Given the description of an element on the screen output the (x, y) to click on. 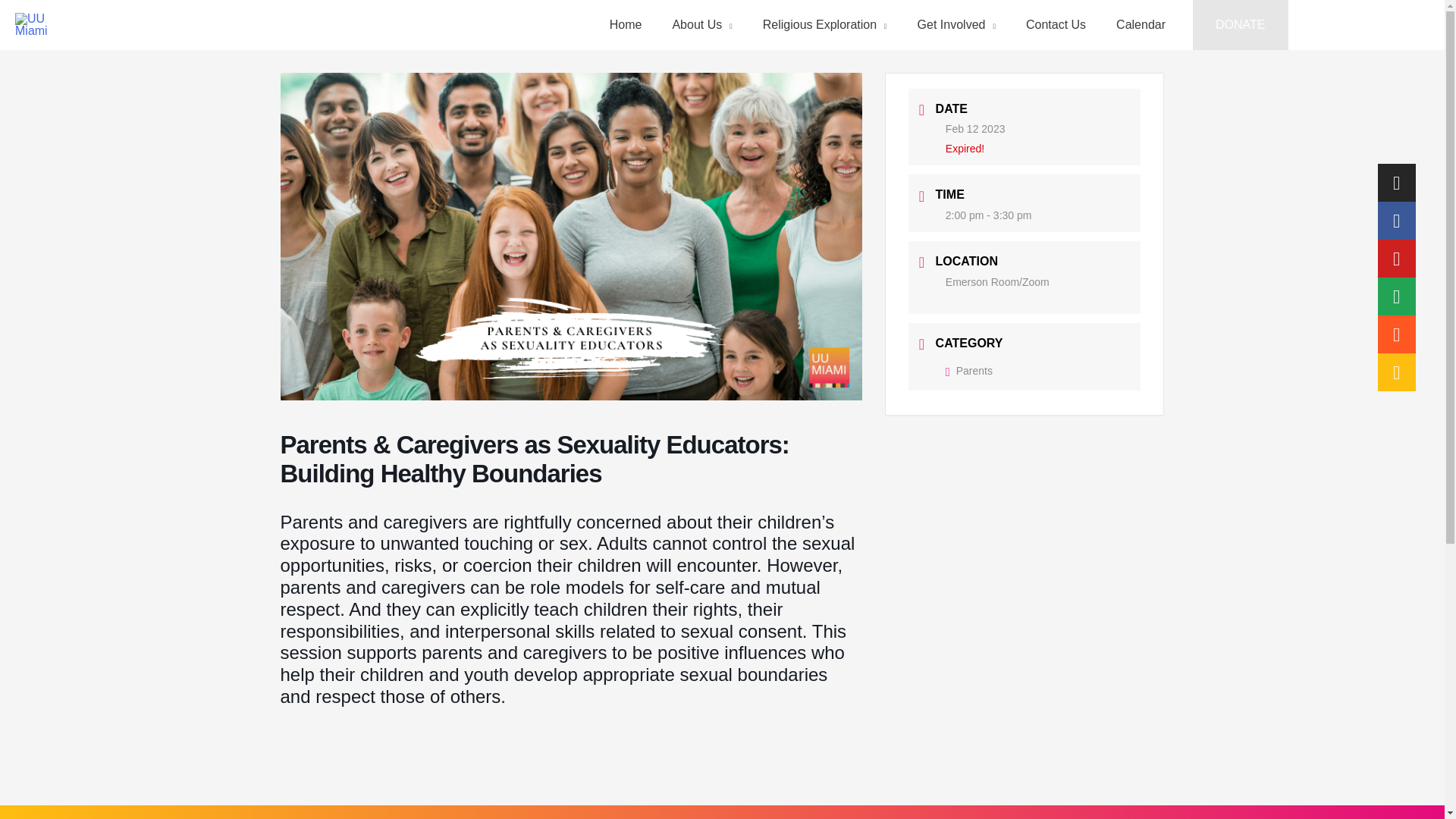
Home (626, 24)
About Us (701, 24)
Calendar (1140, 24)
Youtube (1396, 258)
Calendar-alt (1396, 371)
Envelope (1396, 296)
Get Involved (956, 24)
Parents (968, 370)
DONATE (1239, 24)
Blogger (1396, 333)
